Given the description of an element on the screen output the (x, y) to click on. 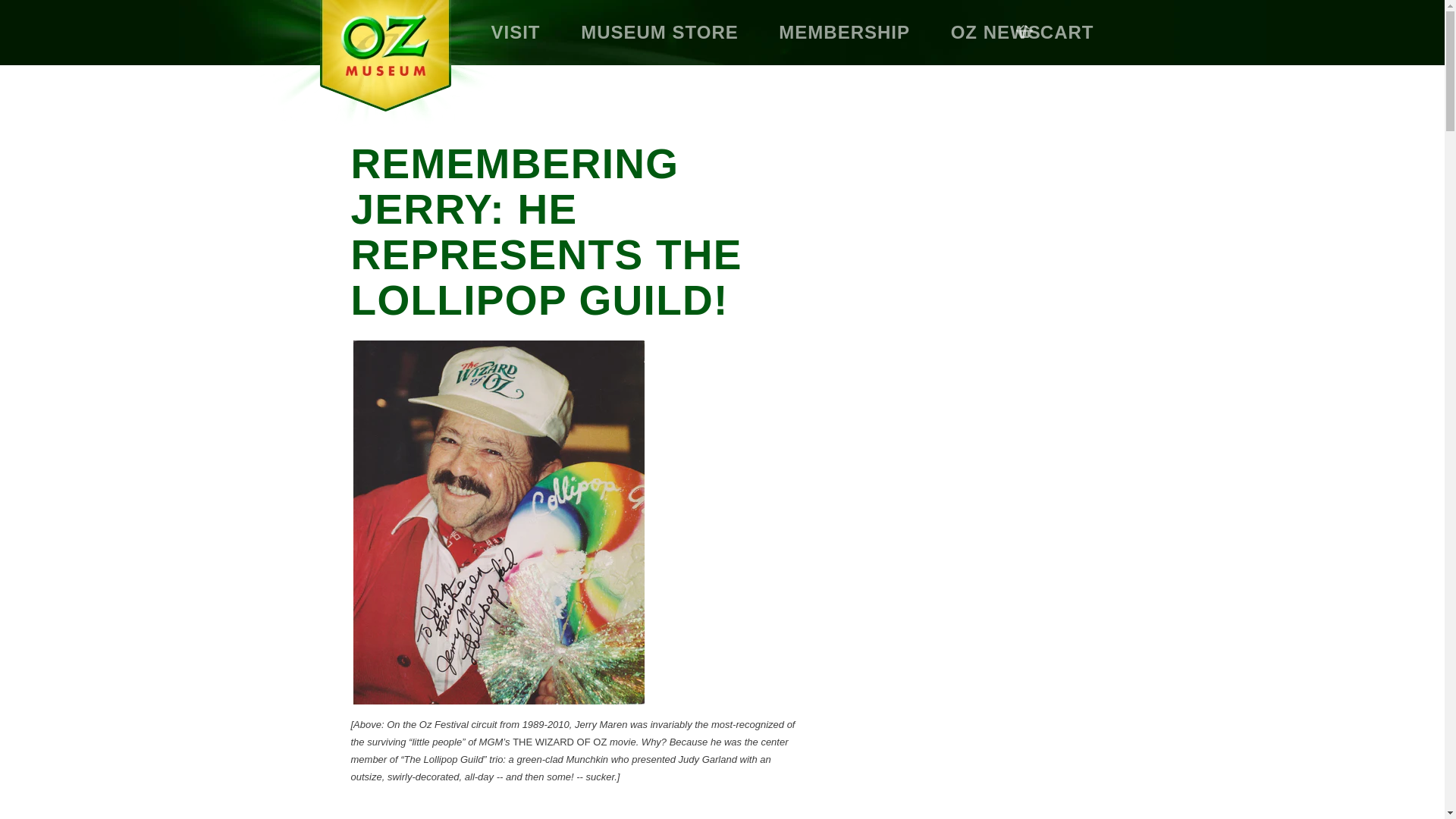
OZ NEWS (995, 32)
MEMBERSHIP (844, 32)
Home (374, 65)
CONTACT (536, 97)
CART (1055, 32)
VISIT (515, 32)
MUSEUM STORE (659, 32)
